Given the description of an element on the screen output the (x, y) to click on. 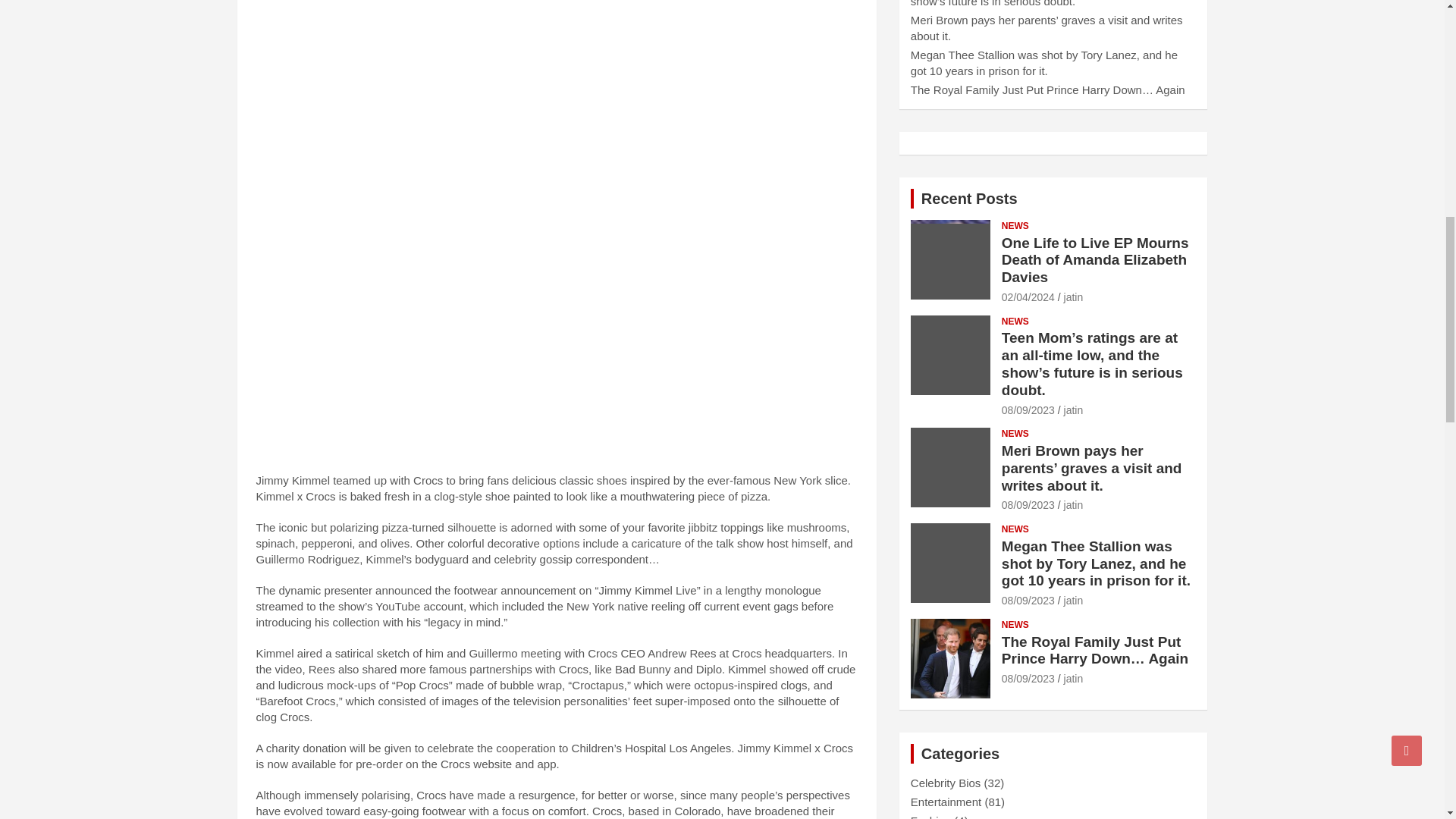
NEWS (1015, 226)
jatin (1073, 297)
Recent Posts (969, 198)
One Life to Live EP Mourns Death of Amanda Elizabeth Davies (1095, 260)
One Life to Live EP Mourns Death of Amanda Elizabeth Davies (1027, 297)
